Given the description of an element on the screen output the (x, y) to click on. 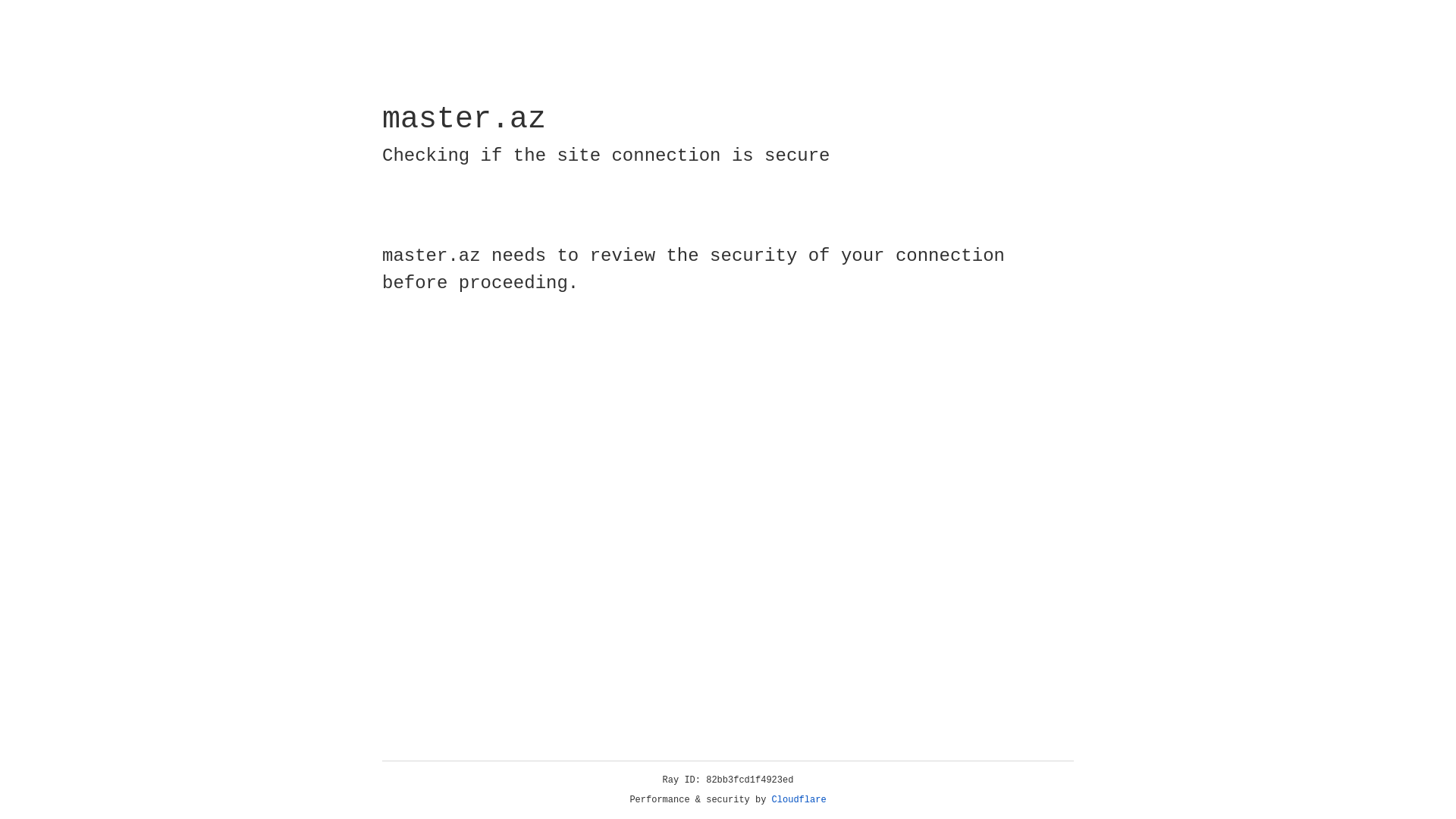
Cloudflare Element type: text (798, 799)
